Given the description of an element on the screen output the (x, y) to click on. 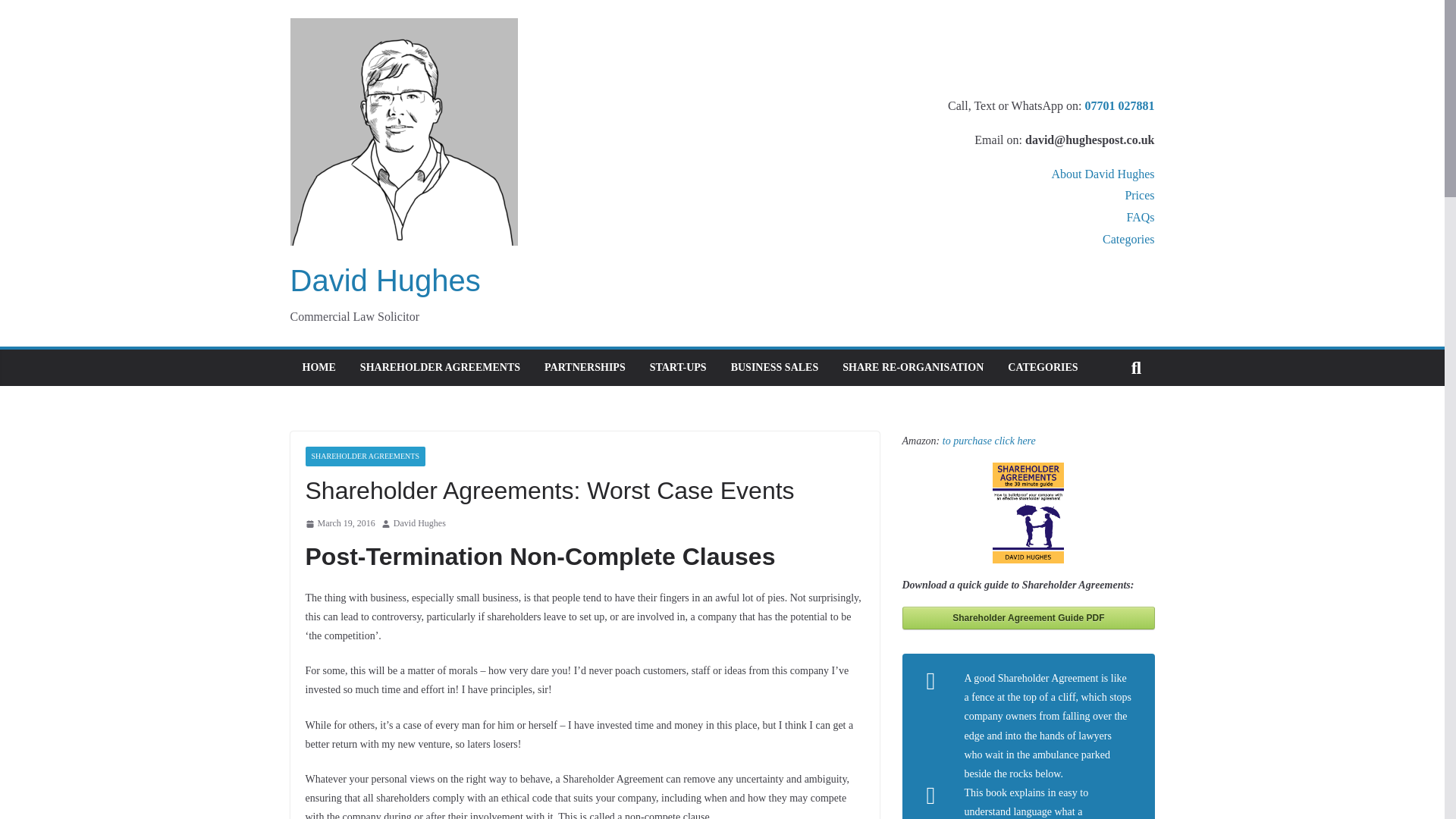
David Hughes (384, 280)
David Hughes (419, 523)
HOME (317, 367)
to purchase click here (988, 440)
Shareholder Agreement Guide PDF (1029, 617)
11:19 am (339, 523)
March 19, 2016 (339, 523)
SHARE RE-ORGANISATION (913, 367)
PARTNERSHIPS (585, 367)
BUSINESS SALES (774, 367)
CATEGORIES (1042, 367)
Shareholder Agreement Guide (1029, 617)
About David Hughes (1102, 173)
SHAREHOLDER AGREEMENTS (439, 367)
Categories (1128, 238)
